Given the description of an element on the screen output the (x, y) to click on. 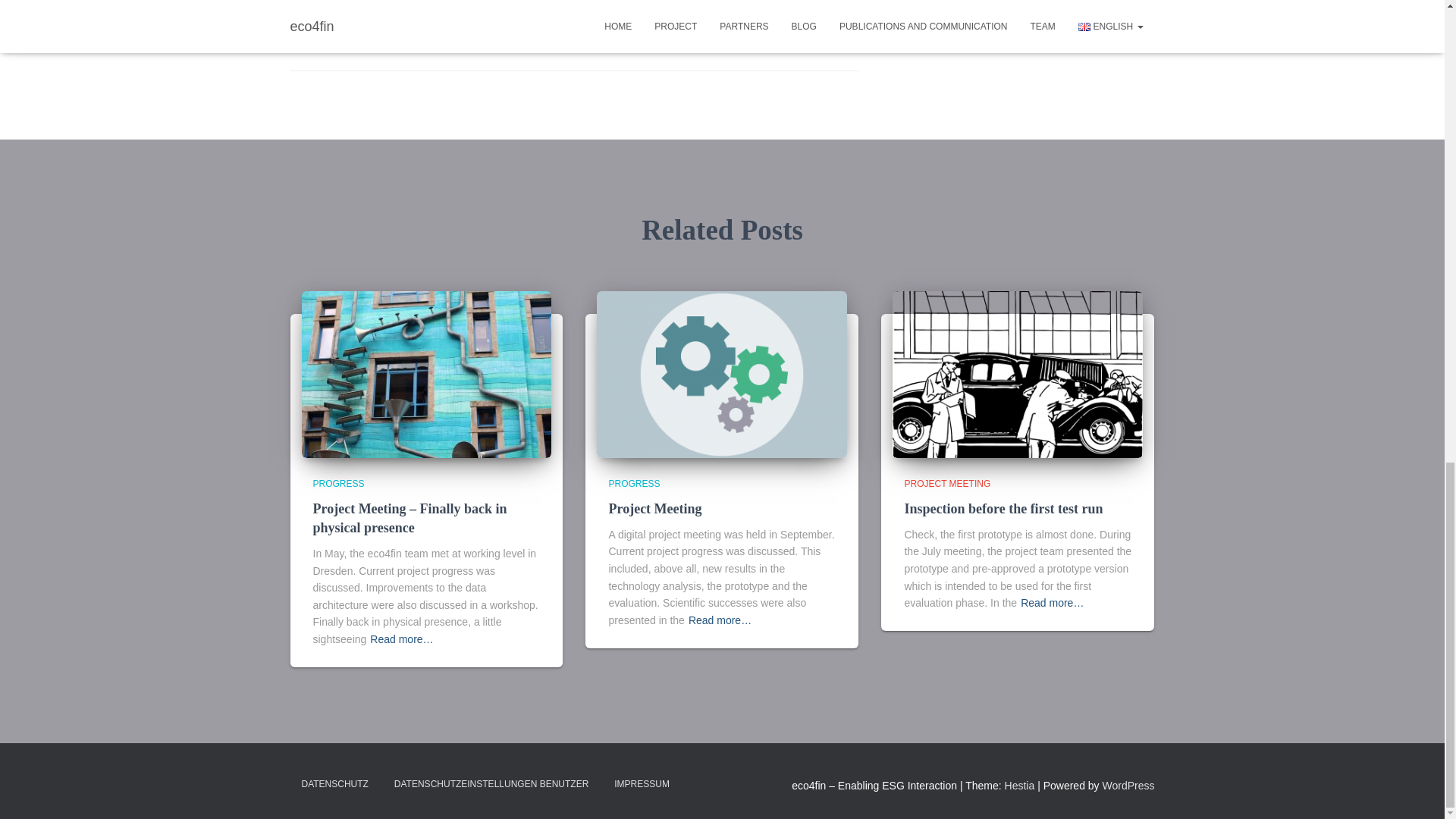
Inspection before the first test run (1003, 508)
PROGRESS (338, 483)
IMPRESSUM (641, 784)
DATENSCHUTZ (333, 784)
View all posts in Progress (338, 483)
Project Meeting (654, 508)
DATENSCHUTZEINSTELLUNGEN BENUTZER (490, 784)
Project Meeting (721, 373)
View all posts in Progress (633, 483)
Project Meeting (654, 508)
